Given the description of an element on the screen output the (x, y) to click on. 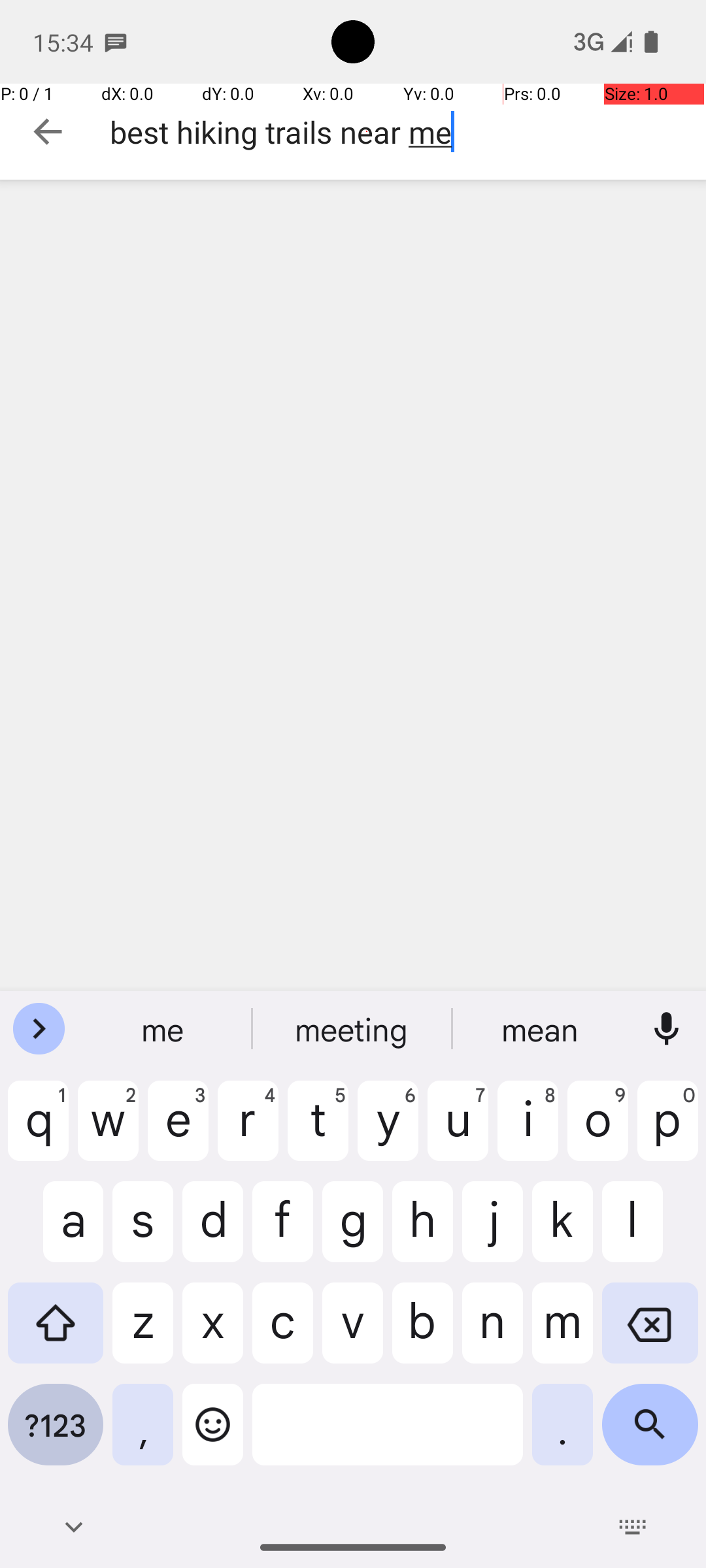
best hiking trails near me Element type: android.widget.EditText (407, 131)
me Element type: android.widget.FrameLayout (163, 1028)
nearly Element type: android.widget.FrameLayout (352, 1028)
nearby Element type: android.widget.FrameLayout (541, 1028)
